Given the description of an element on the screen output the (x, y) to click on. 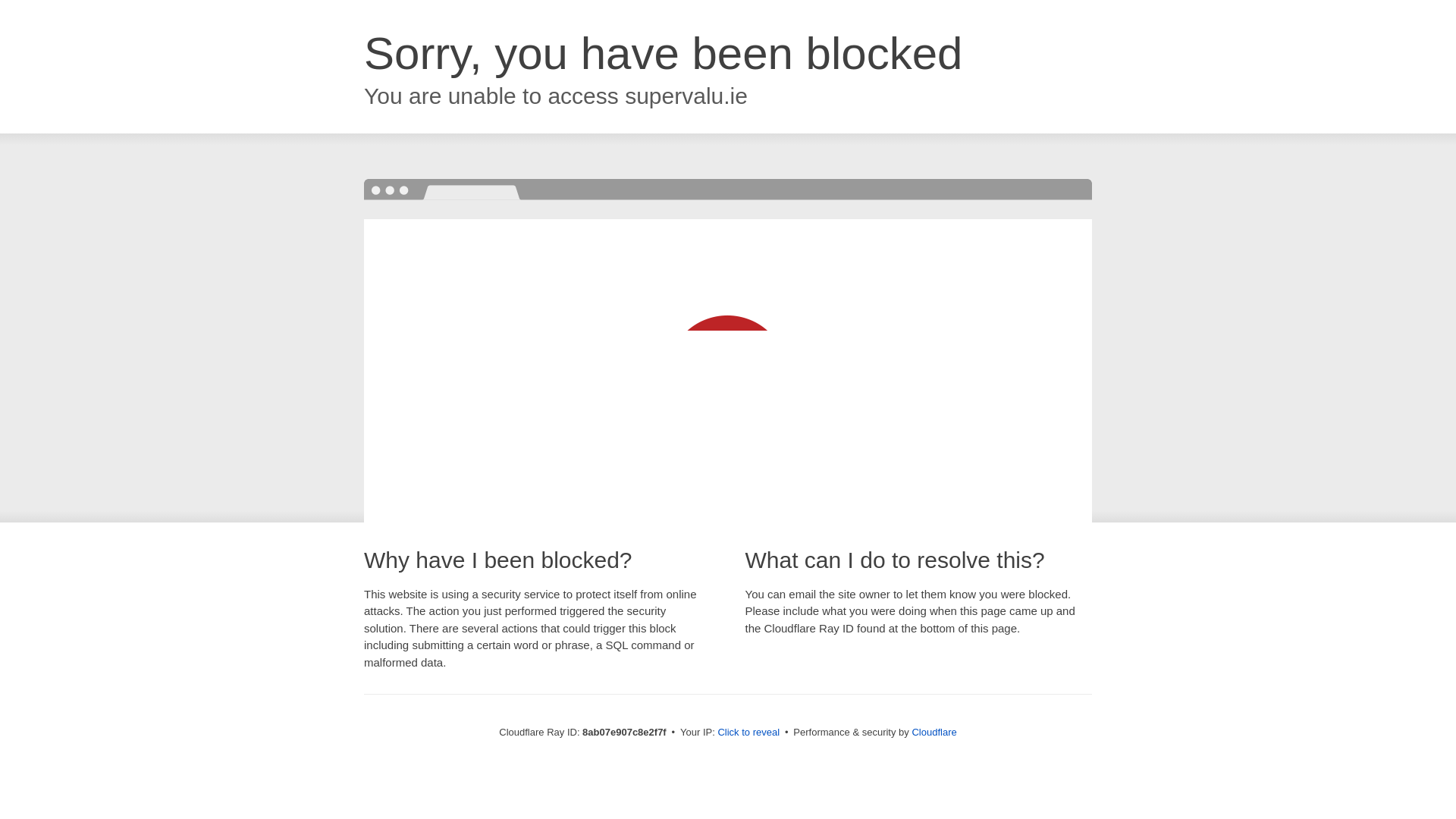
Cloudflare (933, 731)
Click to reveal (747, 732)
